Given the description of an element on the screen output the (x, y) to click on. 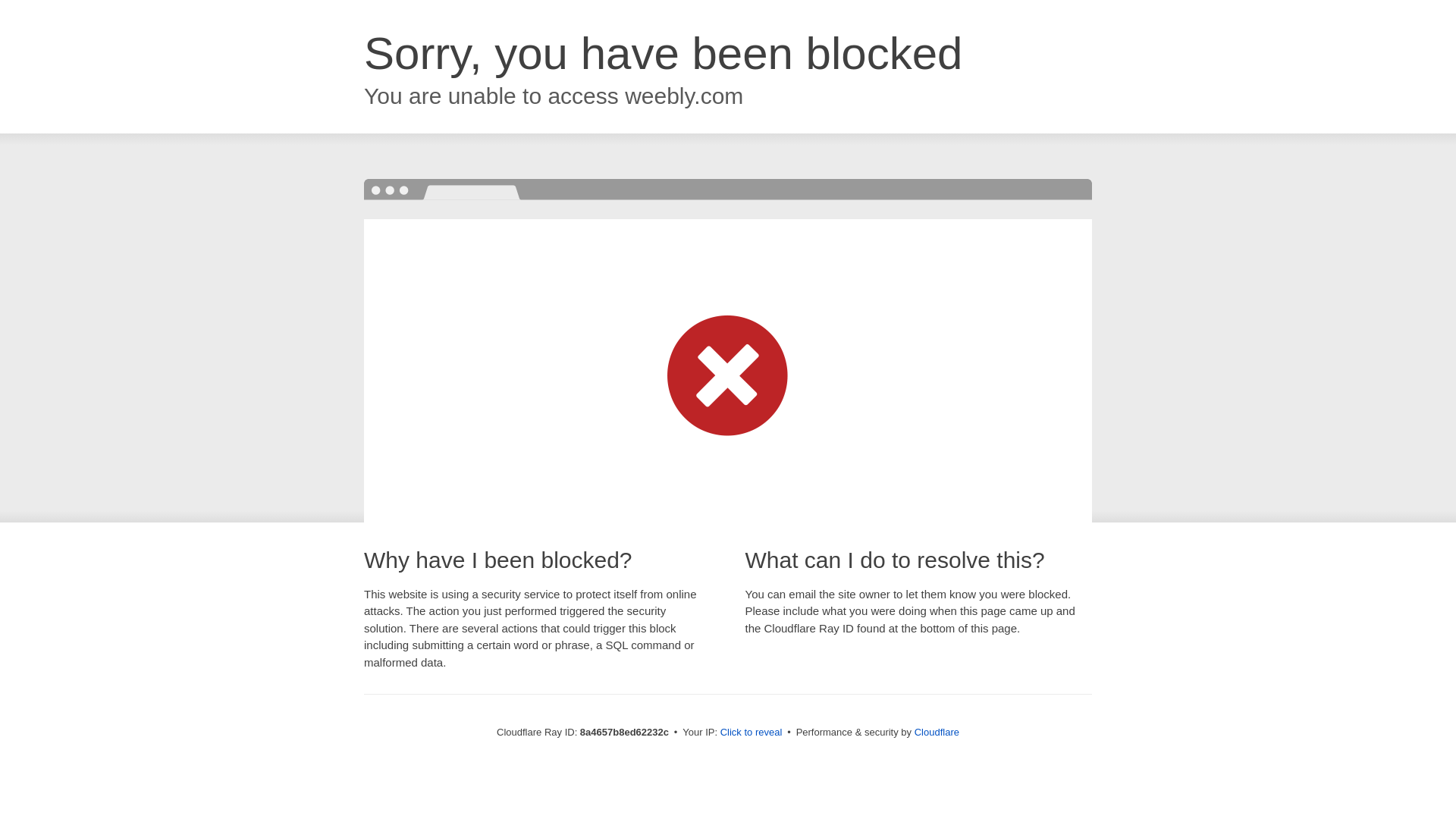
Click to reveal (751, 732)
Cloudflare (936, 731)
